Given the description of an element on the screen output the (x, y) to click on. 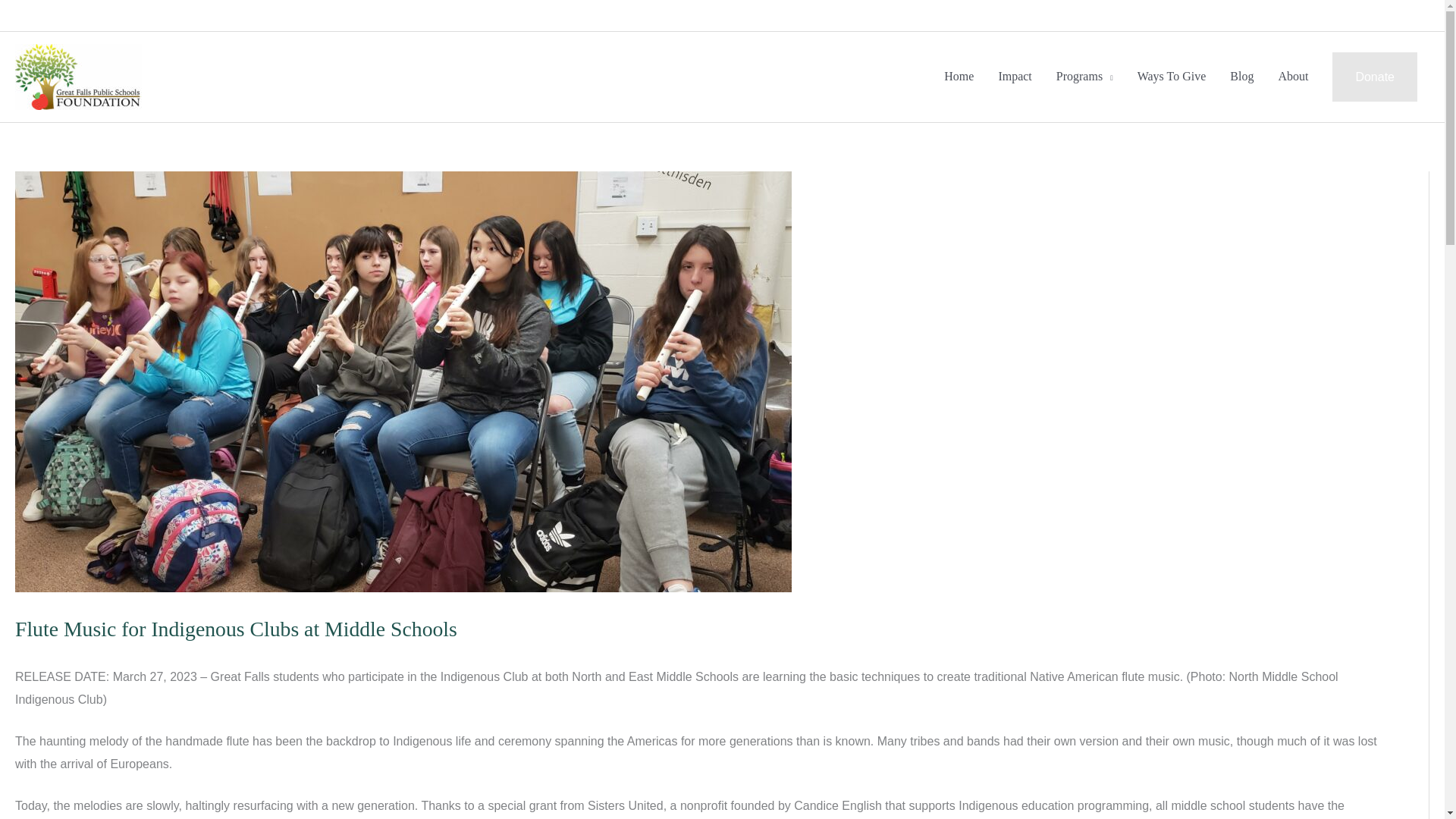
Educator Grants (1296, 15)
Impact (1014, 77)
Ways To Give (1171, 77)
Programs (1084, 77)
Donate (1374, 77)
Blog (1241, 77)
Home (958, 77)
Truck Raffle (1390, 15)
Student Scholarships (1170, 15)
About (1292, 77)
